Given the description of an element on the screen output the (x, y) to click on. 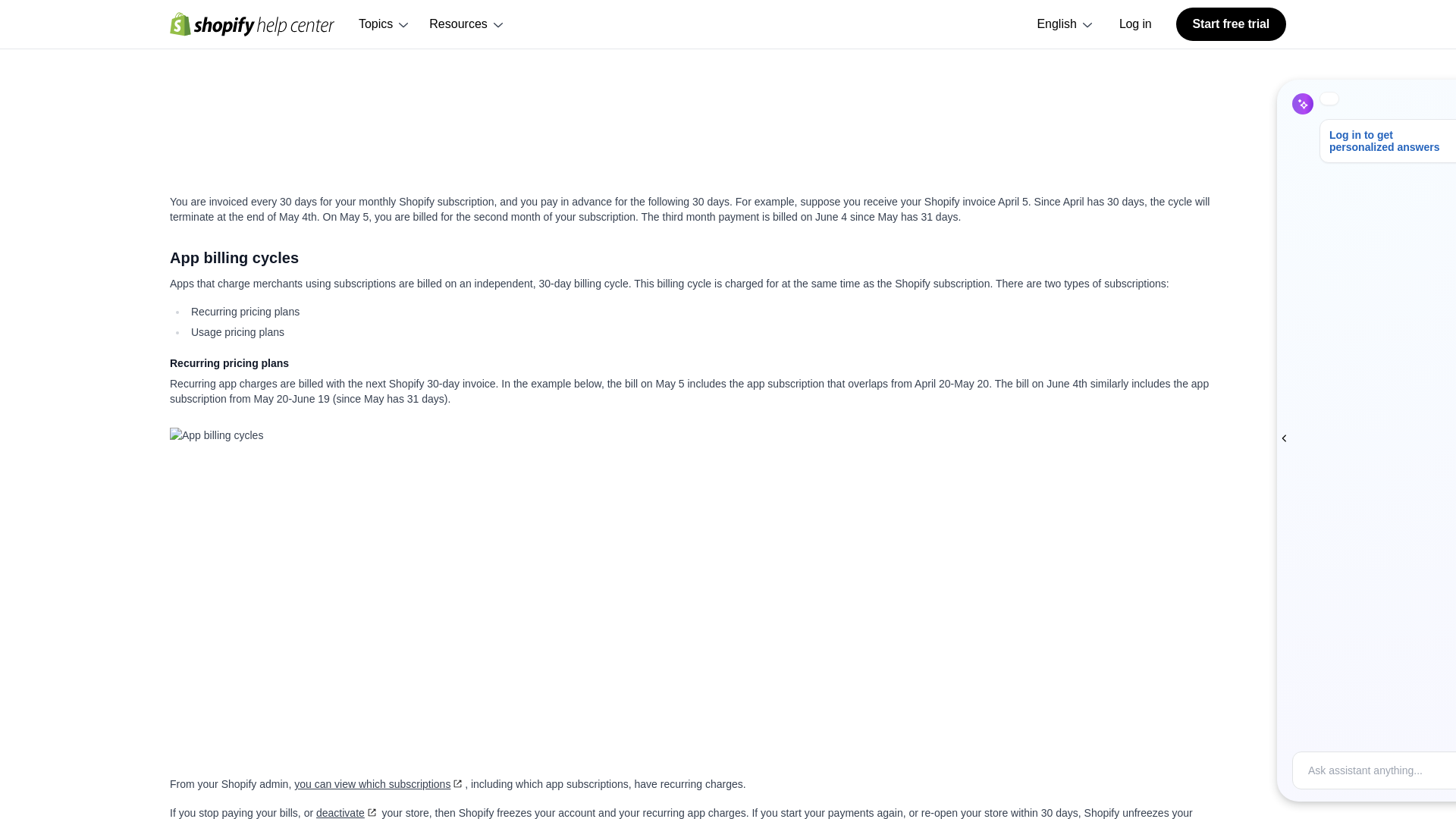
deactivate (346, 812)
you can view which subscriptions (379, 784)
